Given the description of an element on the screen output the (x, y) to click on. 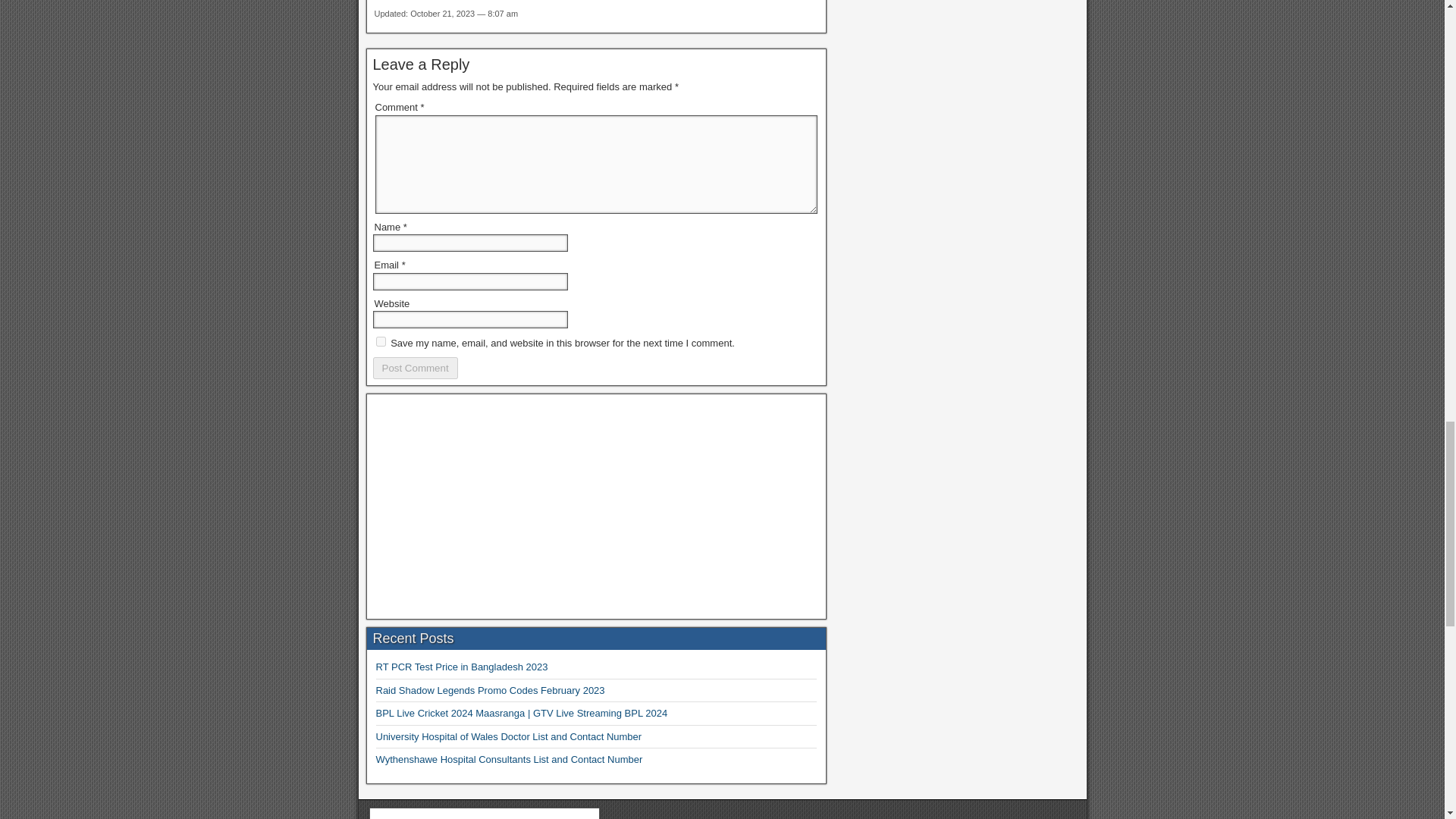
RT PCR Test Price in Bangladesh 2023 (461, 666)
Wythenshawe Hospital Consultants List and Contact Number (509, 758)
yes (380, 341)
Advertisement (483, 816)
Raid Shadow Legends Promo Codes February 2023 (490, 690)
Advertisement (596, 506)
Post Comment (415, 368)
Post Comment (415, 368)
University Hospital of Wales Doctor List and Contact Number (508, 736)
